Given the description of an element on the screen output the (x, y) to click on. 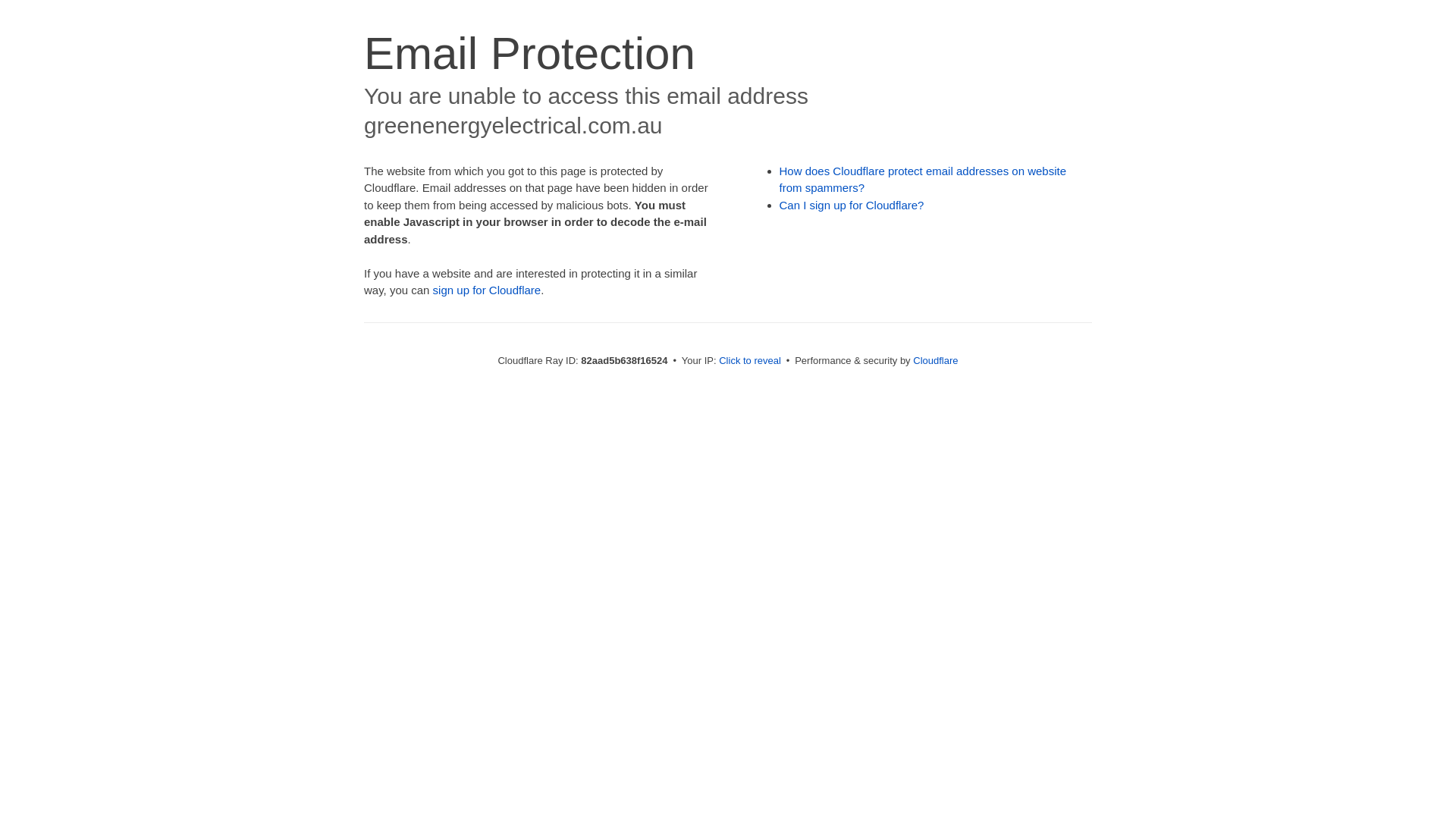
Cloudflare Element type: text (935, 360)
Click to reveal Element type: text (749, 360)
sign up for Cloudflare Element type: text (487, 289)
Can I sign up for Cloudflare? Element type: text (851, 204)
